Given the description of an element on the screen output the (x, y) to click on. 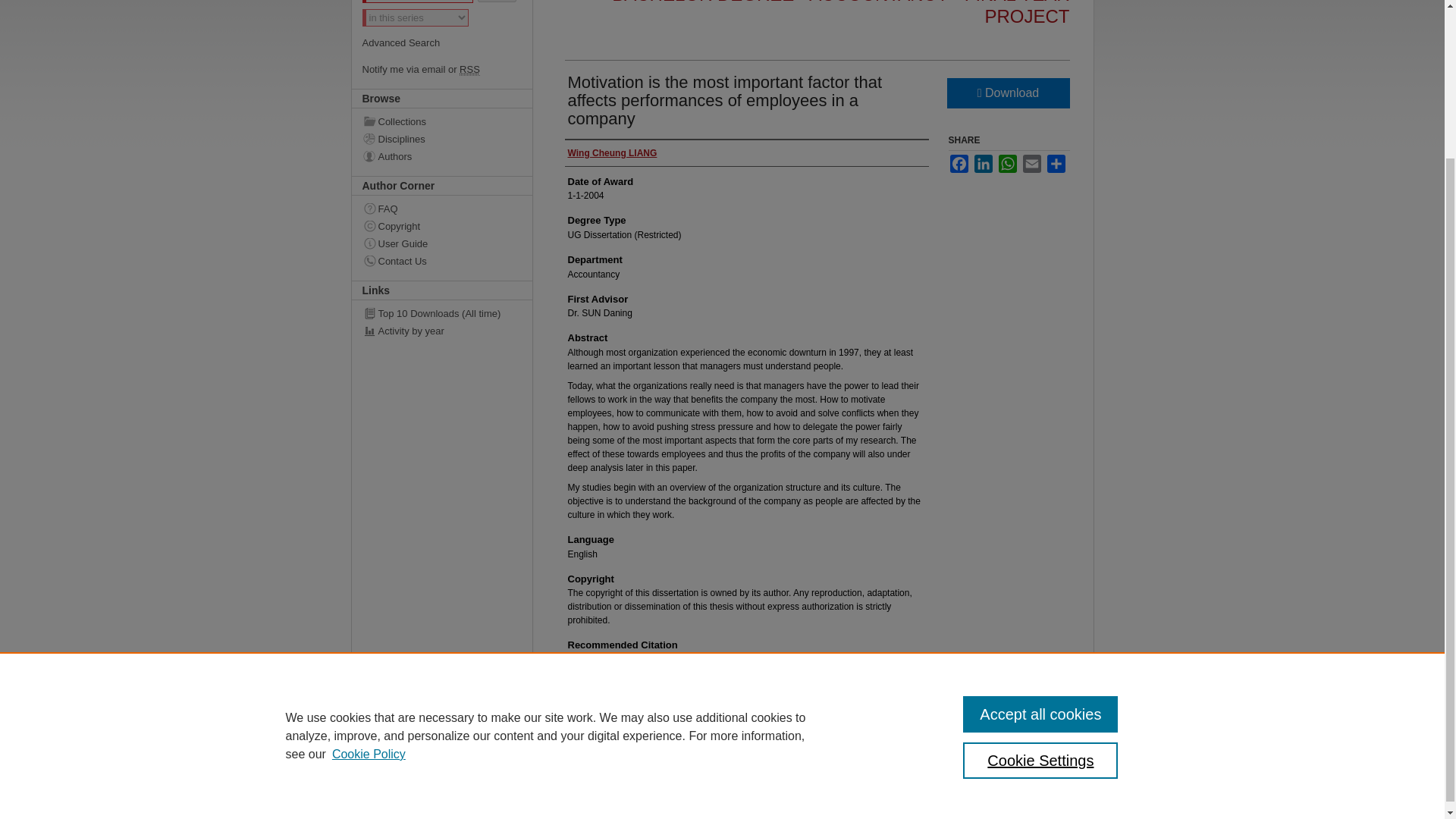
Wing Cheung LIANG (611, 152)
Advanced Search (401, 42)
Collections (453, 121)
LinkedIn (982, 163)
BACHELOR DEGREE - ACCOUNTANCY - FINAL YEAR PROJECT (839, 13)
Email (1031, 163)
FAQ (453, 208)
Search (496, 1)
Email or RSS Notifications (445, 69)
Facebook (958, 163)
Browse by Collections (453, 121)
WhatsApp (1006, 163)
Search (496, 1)
Share (1055, 163)
